Given the description of an element on the screen output the (x, y) to click on. 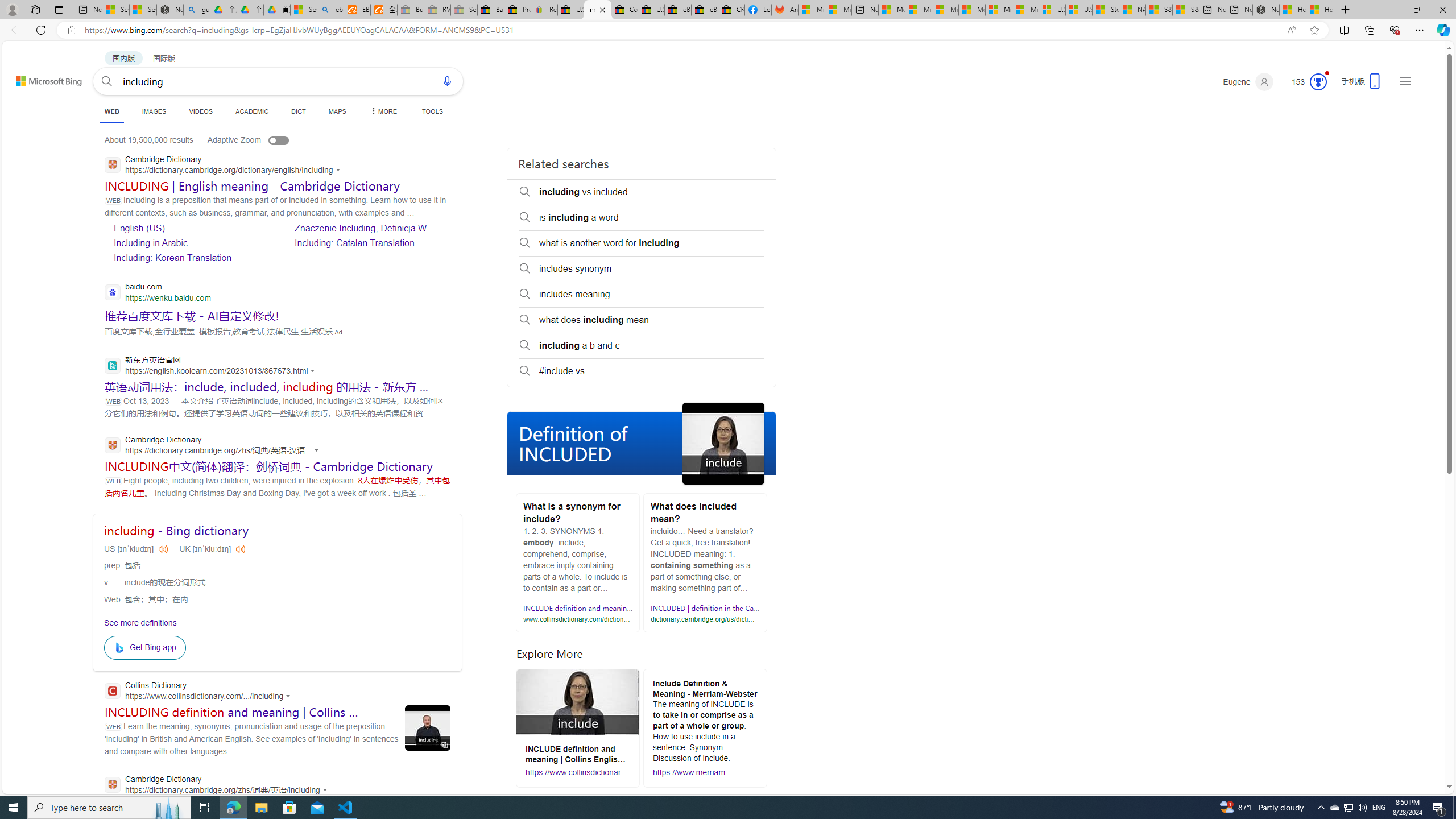
U.S. State Privacy Disclosures - eBay Inc. (651, 9)
DICT (298, 111)
MAPS (336, 111)
Buy Auto Parts & Accessories | eBay - Sleeping (411, 9)
Including: Catalan Translation (354, 243)
Press Room - eBay Inc. (517, 9)
Back to Bing search (41, 78)
IMAGES (153, 111)
